Given the description of an element on the screen output the (x, y) to click on. 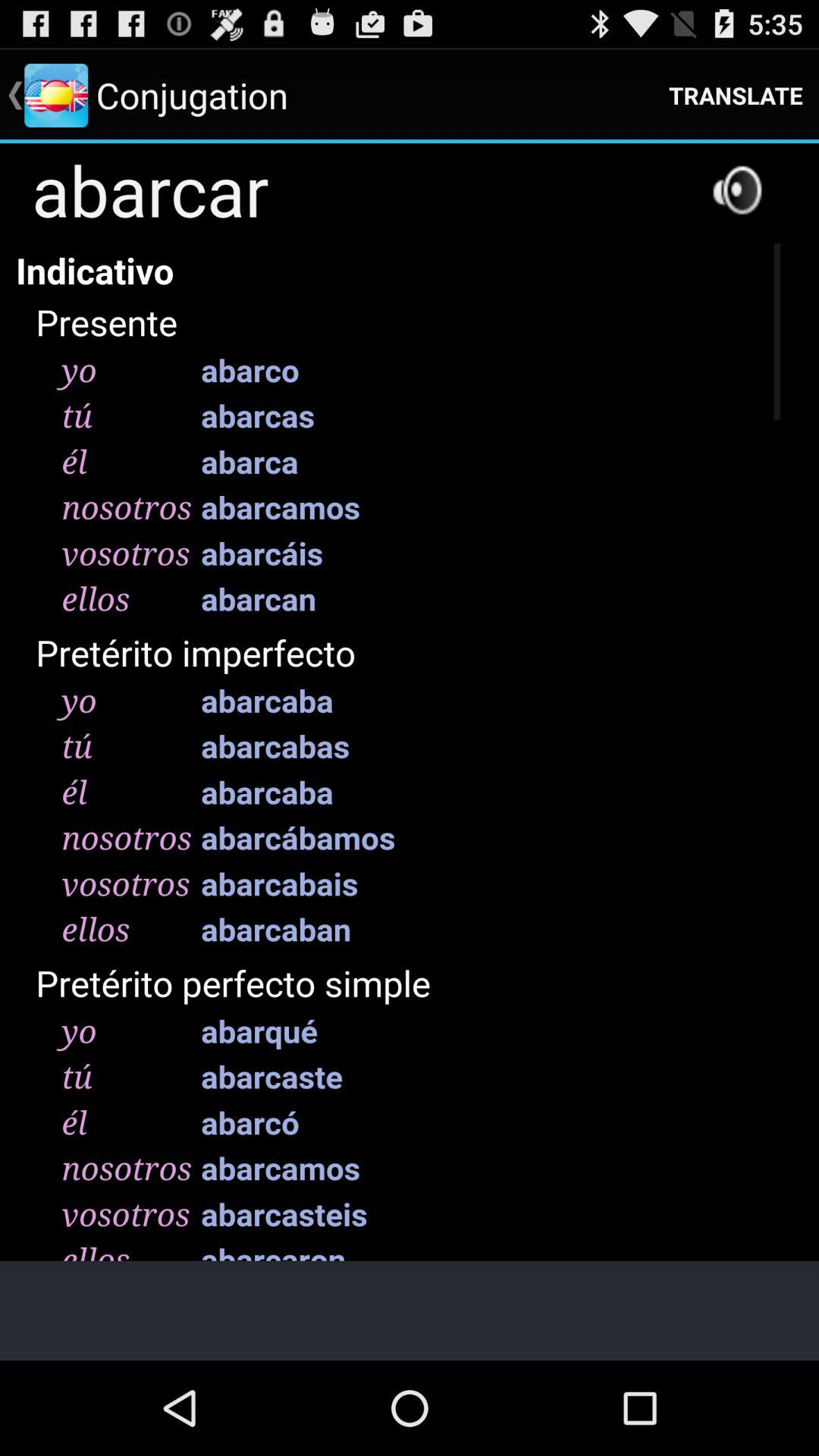
setting on the speacker (737, 189)
